Given the description of an element on the screen output the (x, y) to click on. 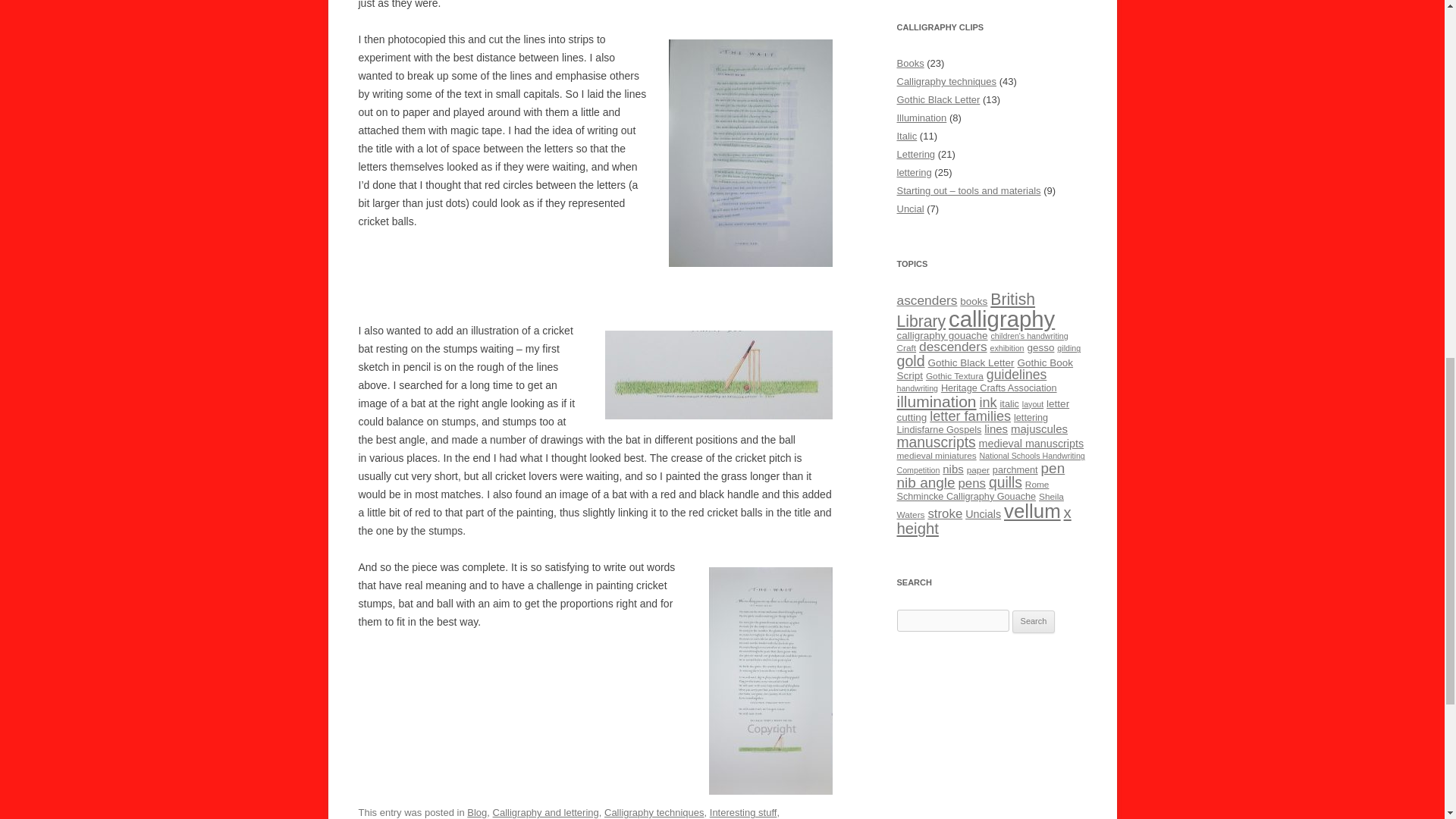
Calligraphy techniques (654, 812)
Blog (476, 812)
Interesting stuff (743, 812)
Calligraphy and lettering (545, 812)
Search (1033, 621)
